Given the description of an element on the screen output the (x, y) to click on. 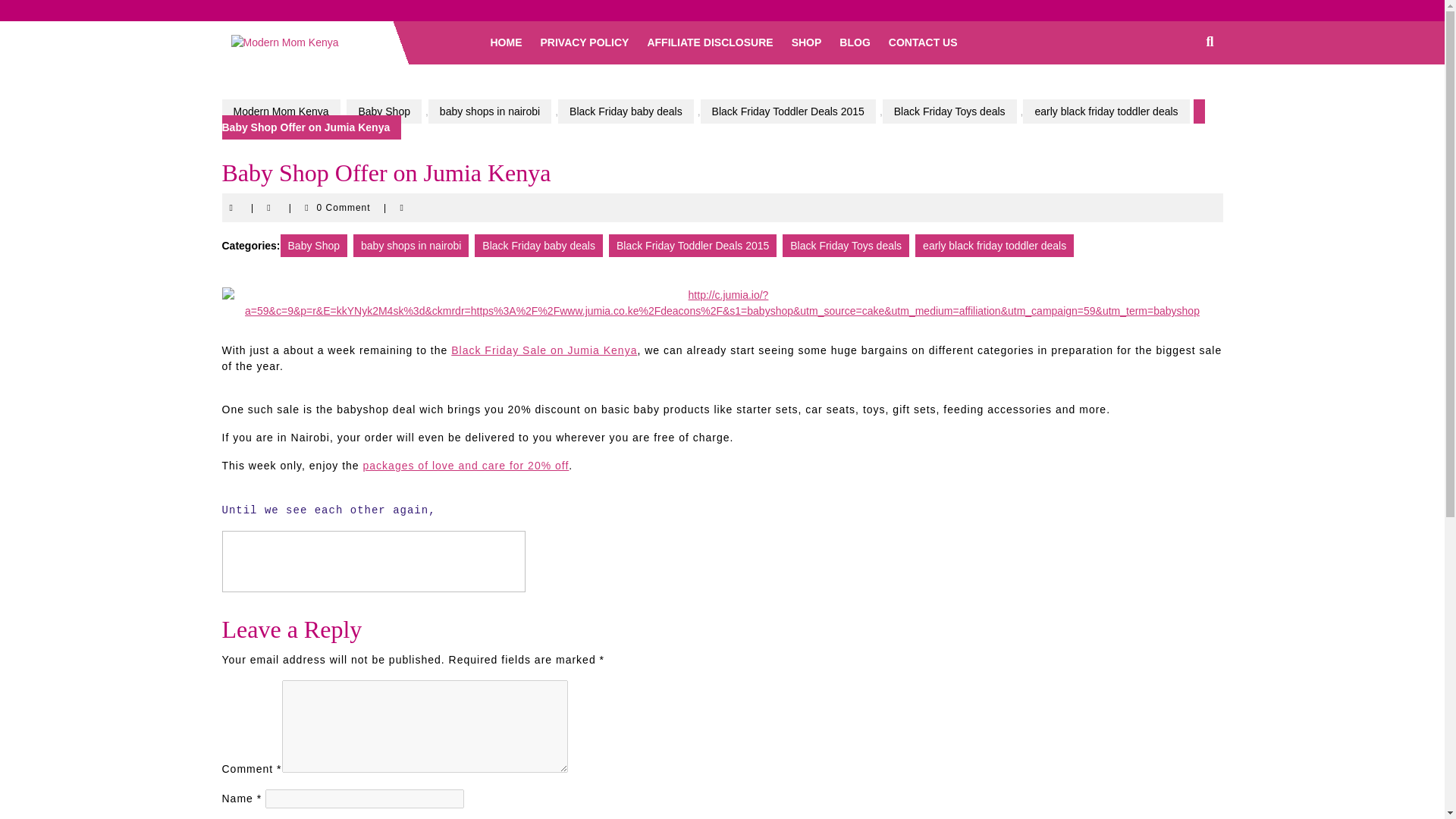
Black Friday Sale on Jumia Kenya (544, 349)
SHOP (807, 42)
HOME (505, 42)
early black friday toddler deals (994, 245)
Black Friday Toys deals (949, 111)
baby shops in nairobi (489, 111)
early black friday toddler deals (1106, 111)
Modern Mom Kenya (280, 111)
baby shops in nairobi (410, 245)
PRIVACY POLICY (584, 42)
